Given the description of an element on the screen output the (x, y) to click on. 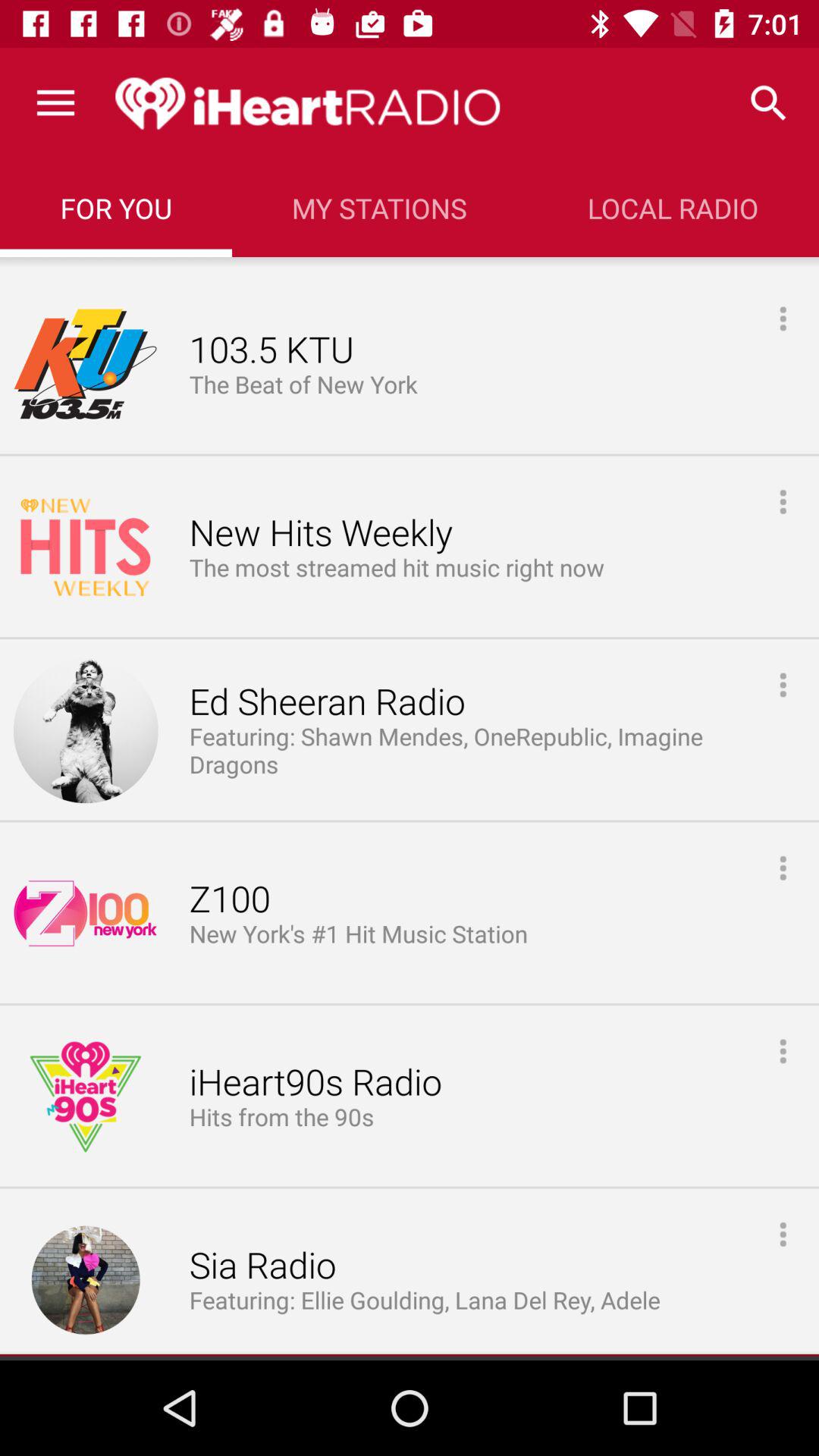
select icon above featuring shawn mendes icon (327, 702)
